Given the description of an element on the screen output the (x, y) to click on. 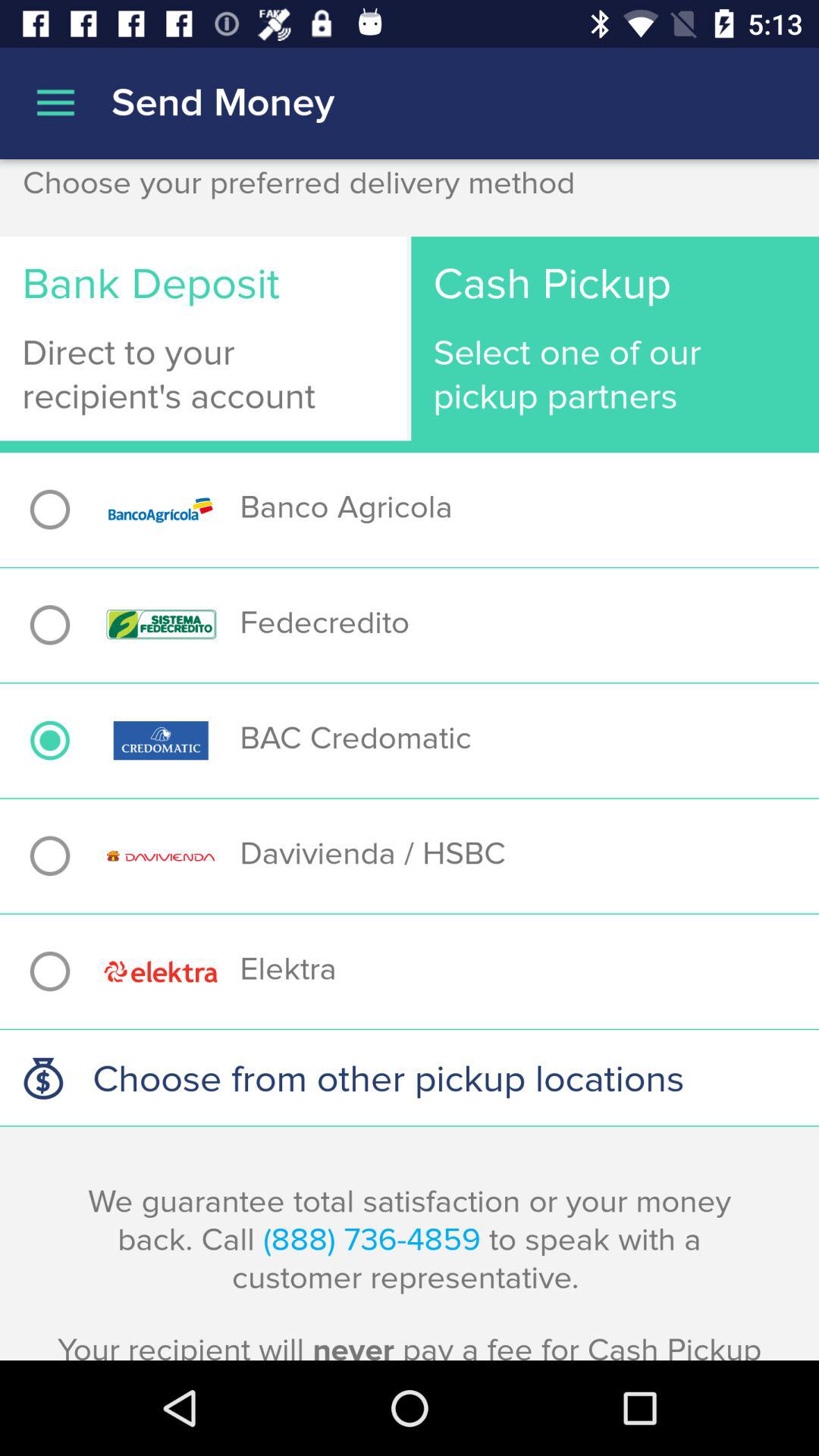
click item to the left of send money app (55, 103)
